Given the description of an element on the screen output the (x, y) to click on. 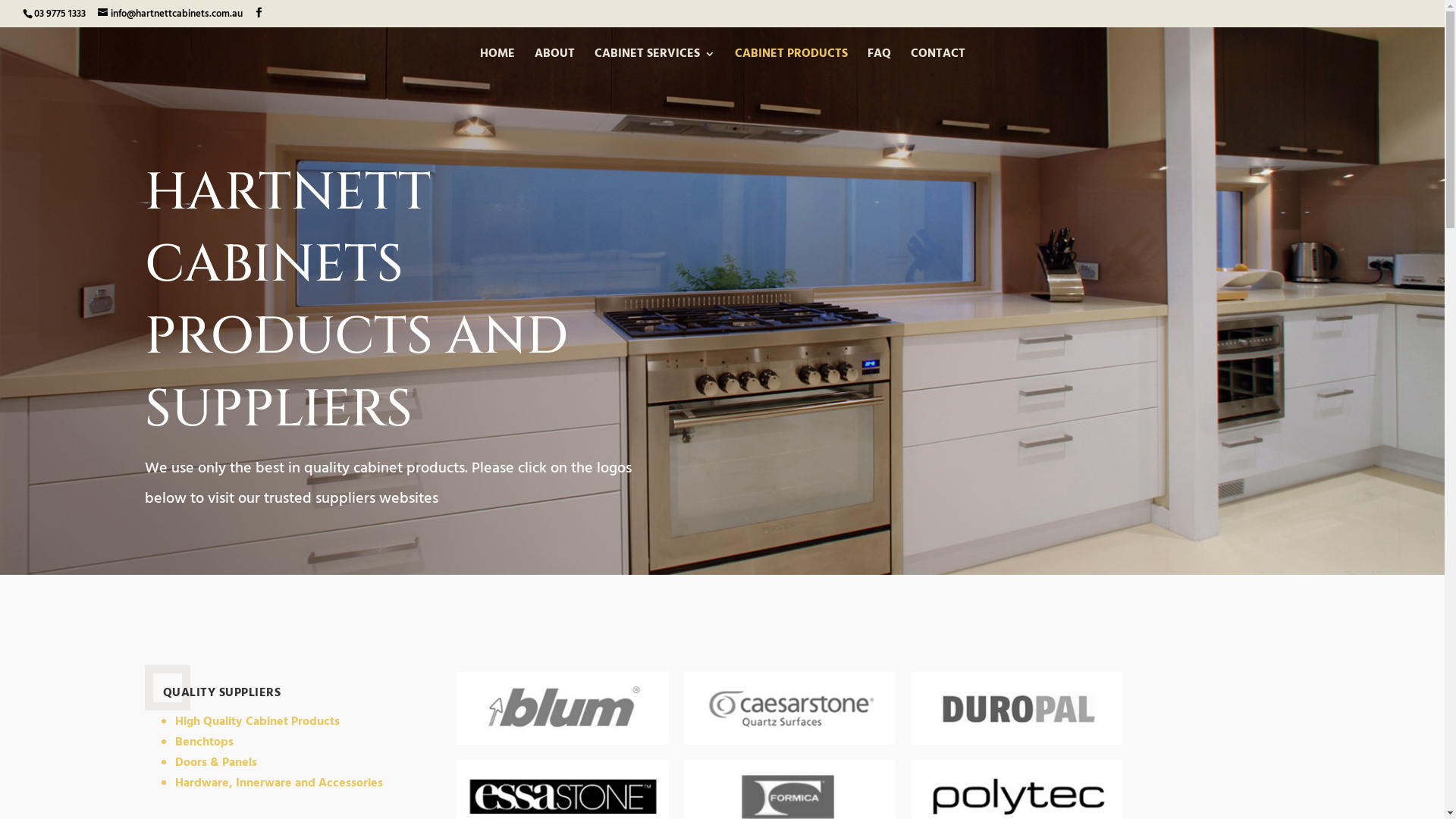
ABOUT Element type: text (553, 62)
CABINET SERVICES Element type: text (654, 62)
HOME Element type: text (496, 62)
CONTACT Element type: text (937, 62)
FAQ Element type: text (879, 62)
CABINET PRODUCTS Element type: text (790, 62)
info@hartnettcabinets.com.au Element type: text (169, 13)
